Given the description of an element on the screen output the (x, y) to click on. 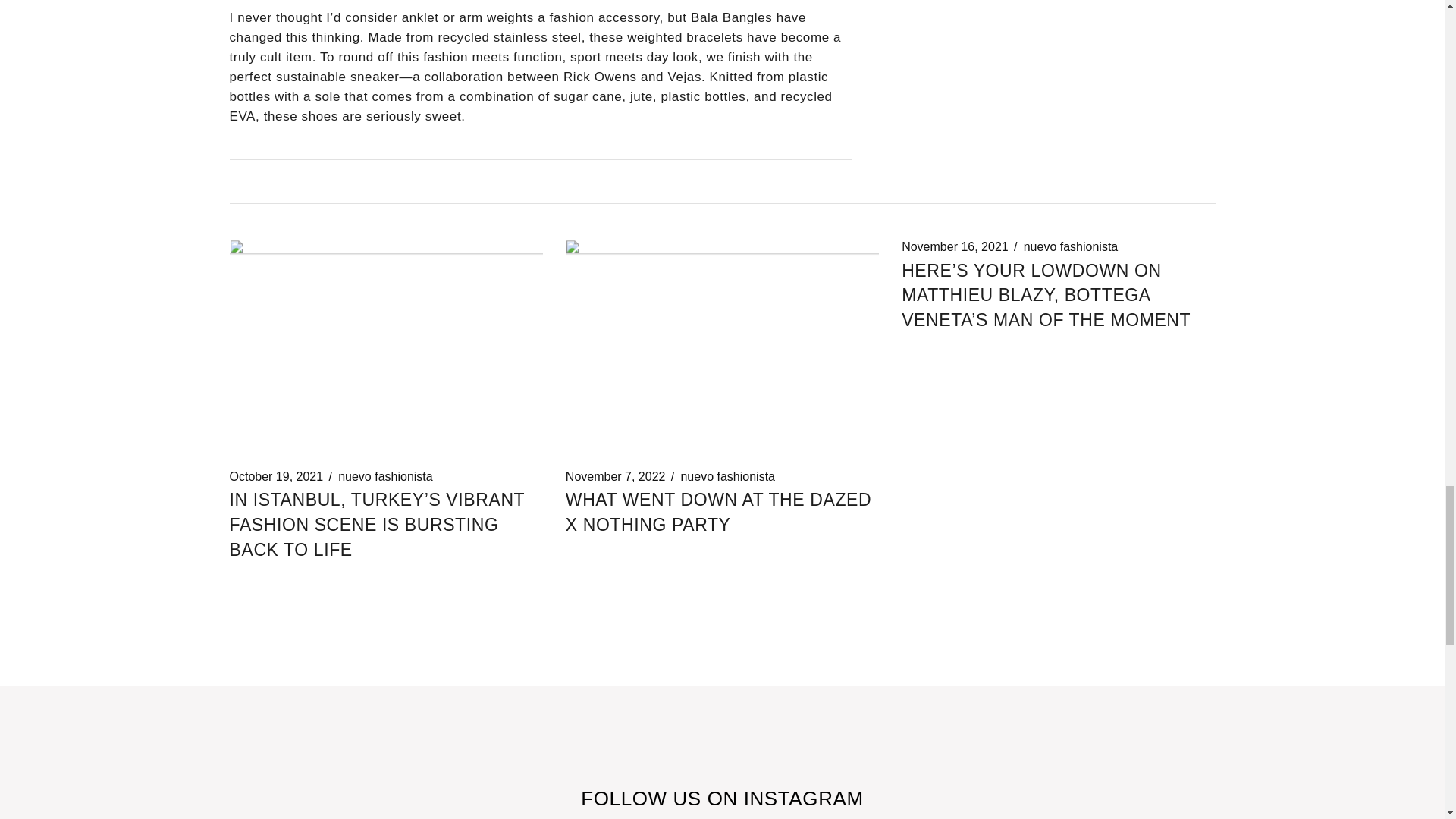
November 7, 2022 (615, 476)
nuevo fashionista (384, 476)
October 19, 2021 (275, 476)
